Given the description of an element on the screen output the (x, y) to click on. 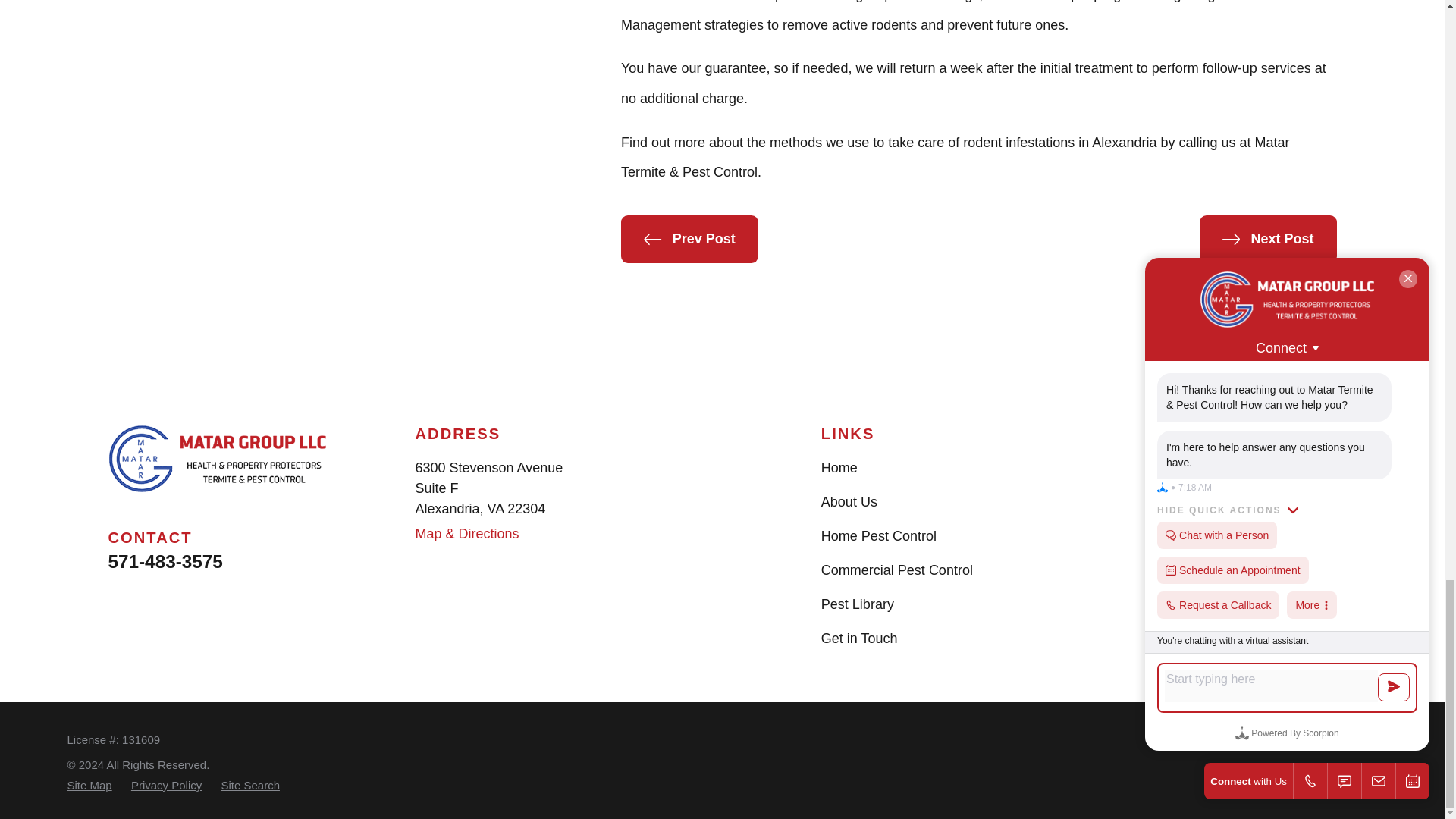
Yelp (1239, 466)
Home (216, 459)
